Given the description of an element on the screen output the (x, y) to click on. 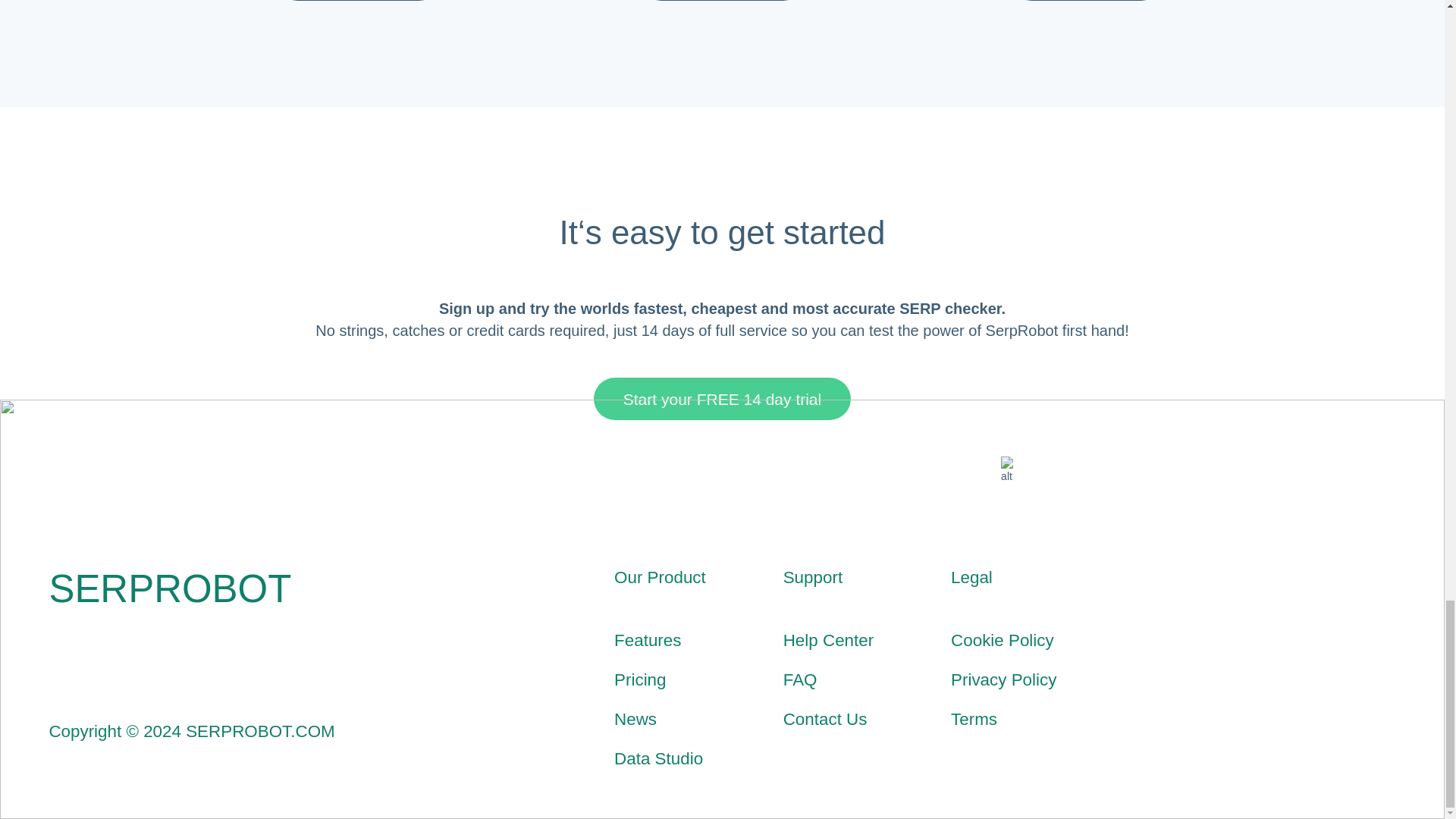
Contact Us (825, 719)
Our Product (660, 577)
Terms (973, 719)
Privacy Policy (1003, 679)
News (635, 719)
Data Studio (658, 758)
Start your FREE 14 day trial (722, 398)
Help Center (828, 640)
Legal (971, 577)
FAQ (799, 679)
